Given the description of an element on the screen output the (x, y) to click on. 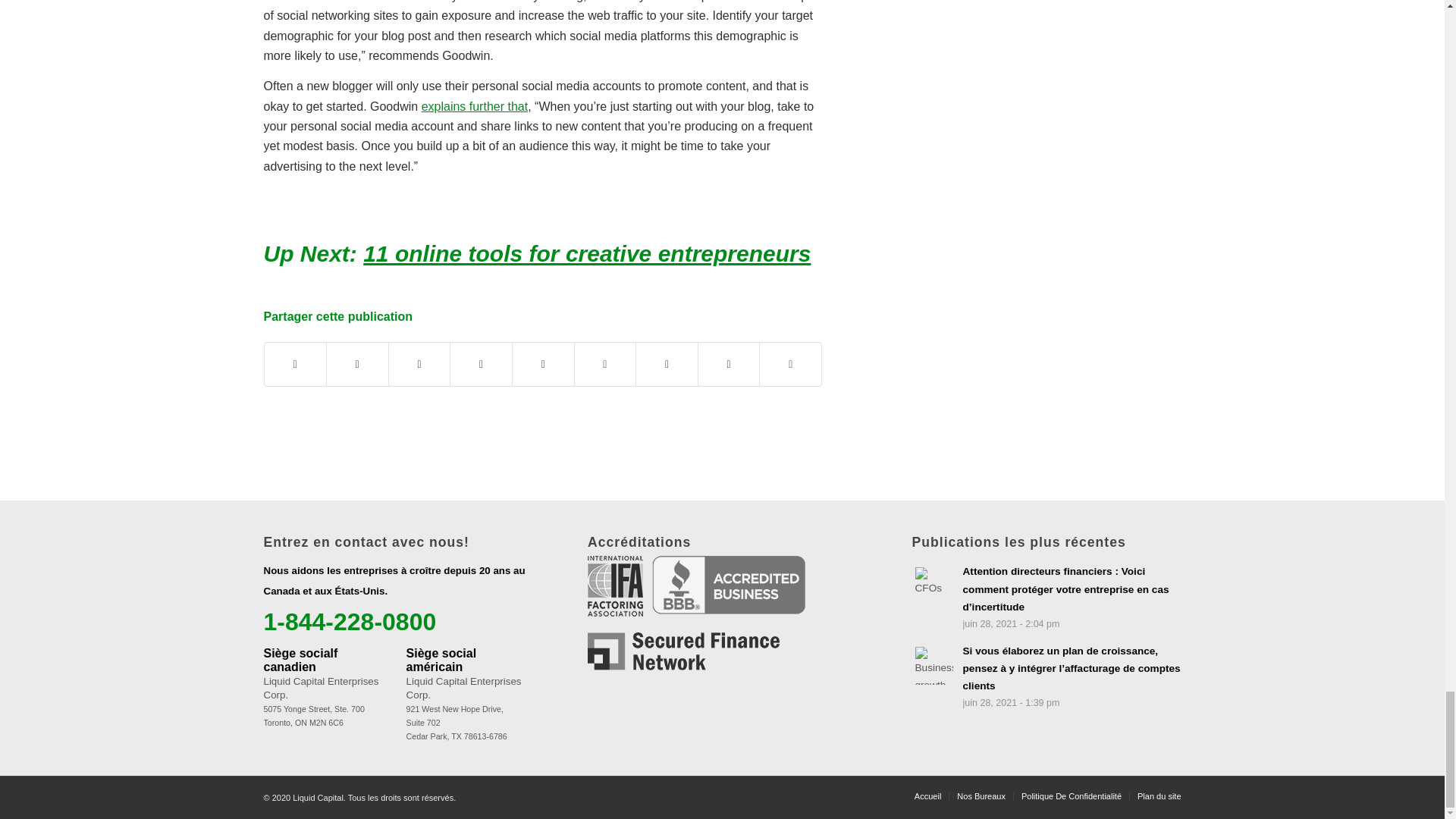
Permanent Link: 11 online tools for creative entrepreneurs (586, 253)
